Given the description of an element on the screen output the (x, y) to click on. 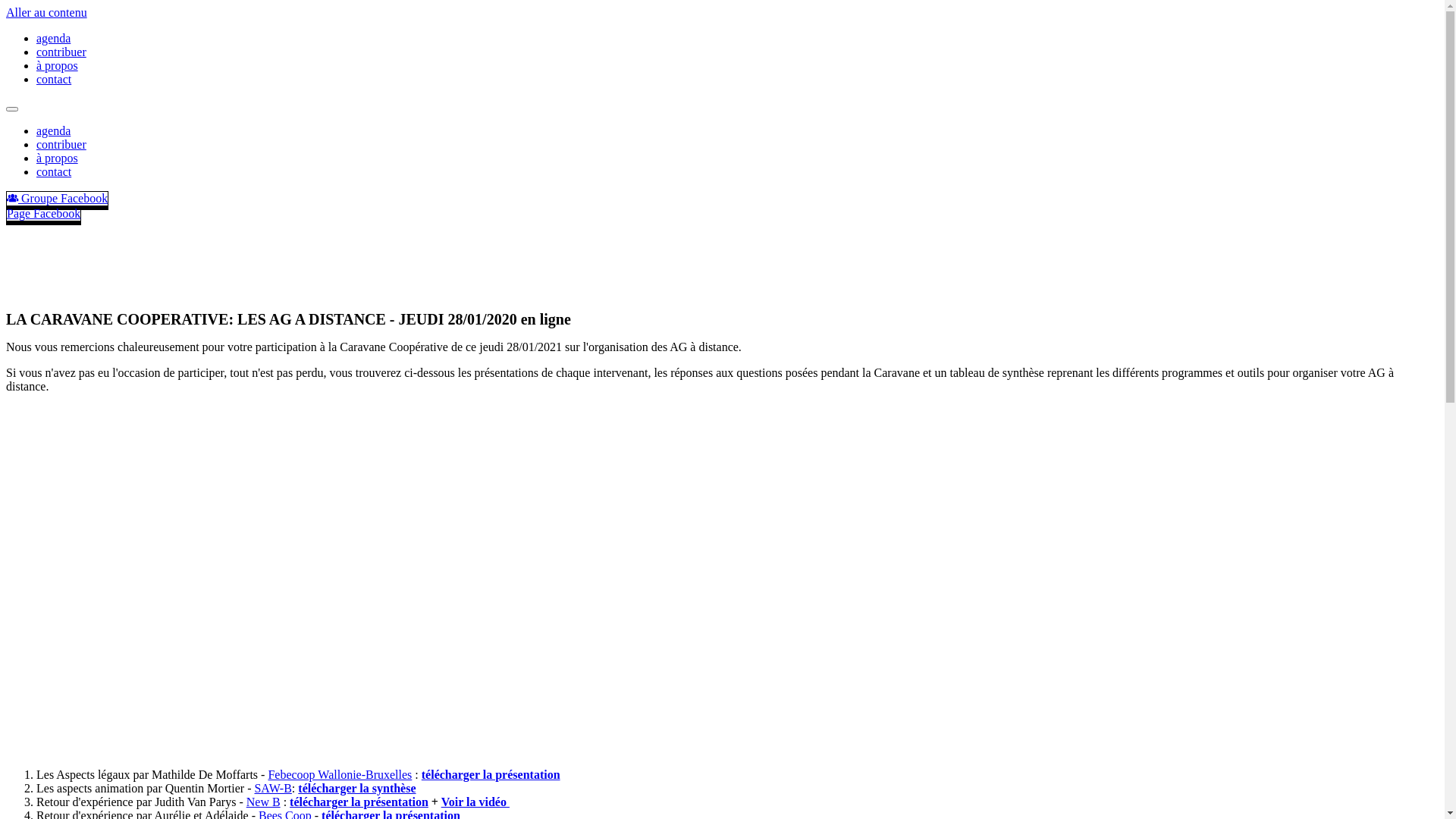
agenda Element type: text (53, 130)
contribuer Element type: text (61, 51)
Febecoop Wallonie-Bruxelles Element type: text (339, 774)
agenda Element type: text (53, 37)
contribuer Element type: text (61, 144)
contact Element type: text (53, 171)
Page Facebook Element type: text (43, 213)
Groupe Facebook Element type: text (57, 198)
New B Element type: text (263, 801)
contact Element type: text (53, 78)
Aller au contenu Element type: text (46, 12)
SAW-B Element type: text (272, 787)
